Given the description of an element on the screen output the (x, y) to click on. 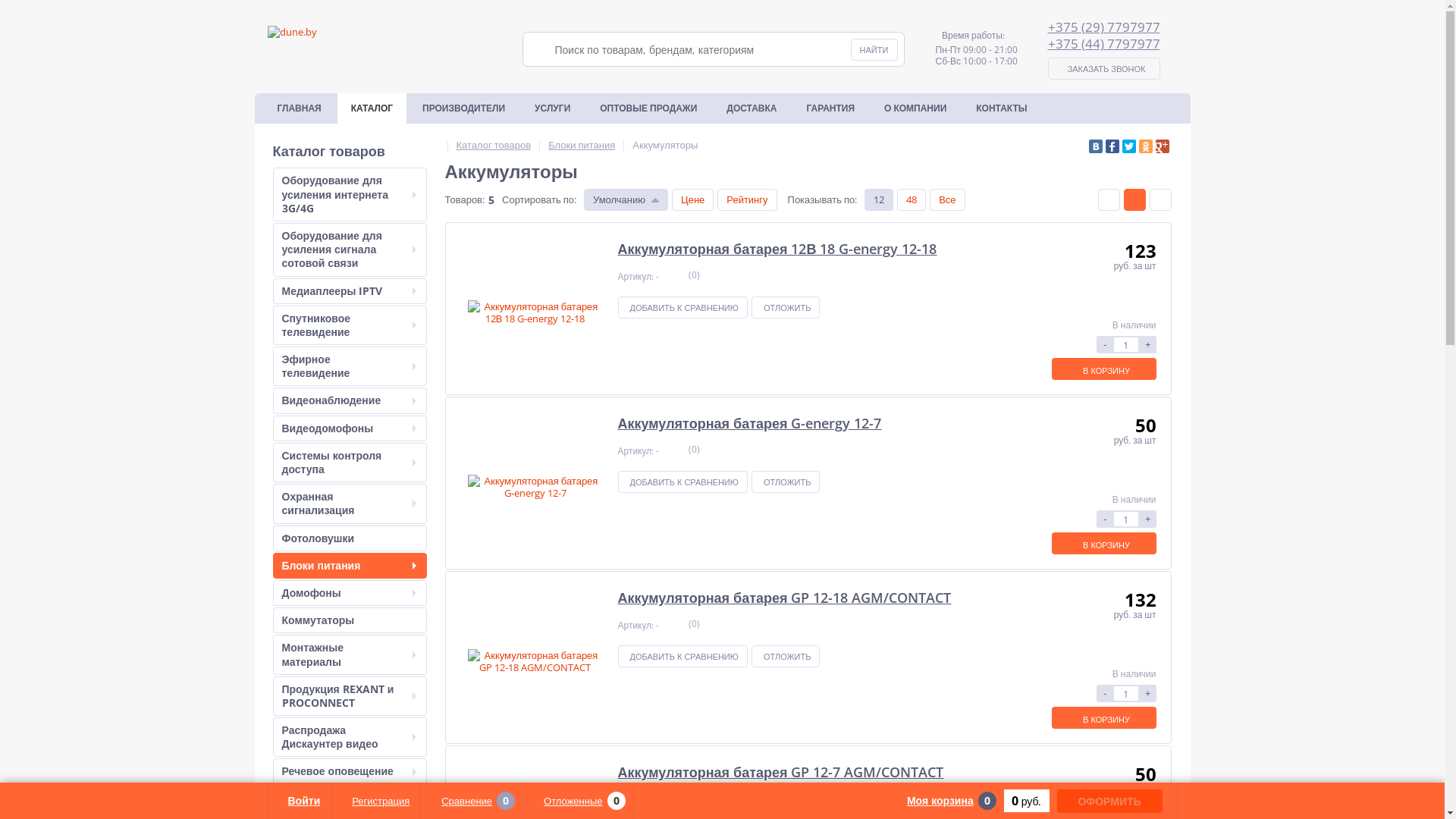
- Element type: text (1104, 518)
Twitter Element type: hover (1128, 146)
12 Element type: text (878, 199)
+ Element type: text (1147, 518)
Google Plus Element type: hover (1162, 146)
+ Element type: text (1147, 693)
+ Element type: text (1147, 344)
+375 (29) 7797977 Element type: text (1104, 26)
48 Element type: text (911, 199)
- Element type: text (1104, 344)
+375 (44) 7797977 Element type: text (1104, 43)
Facebook Element type: hover (1112, 146)
- Element type: text (1104, 693)
